Given the description of an element on the screen output the (x, y) to click on. 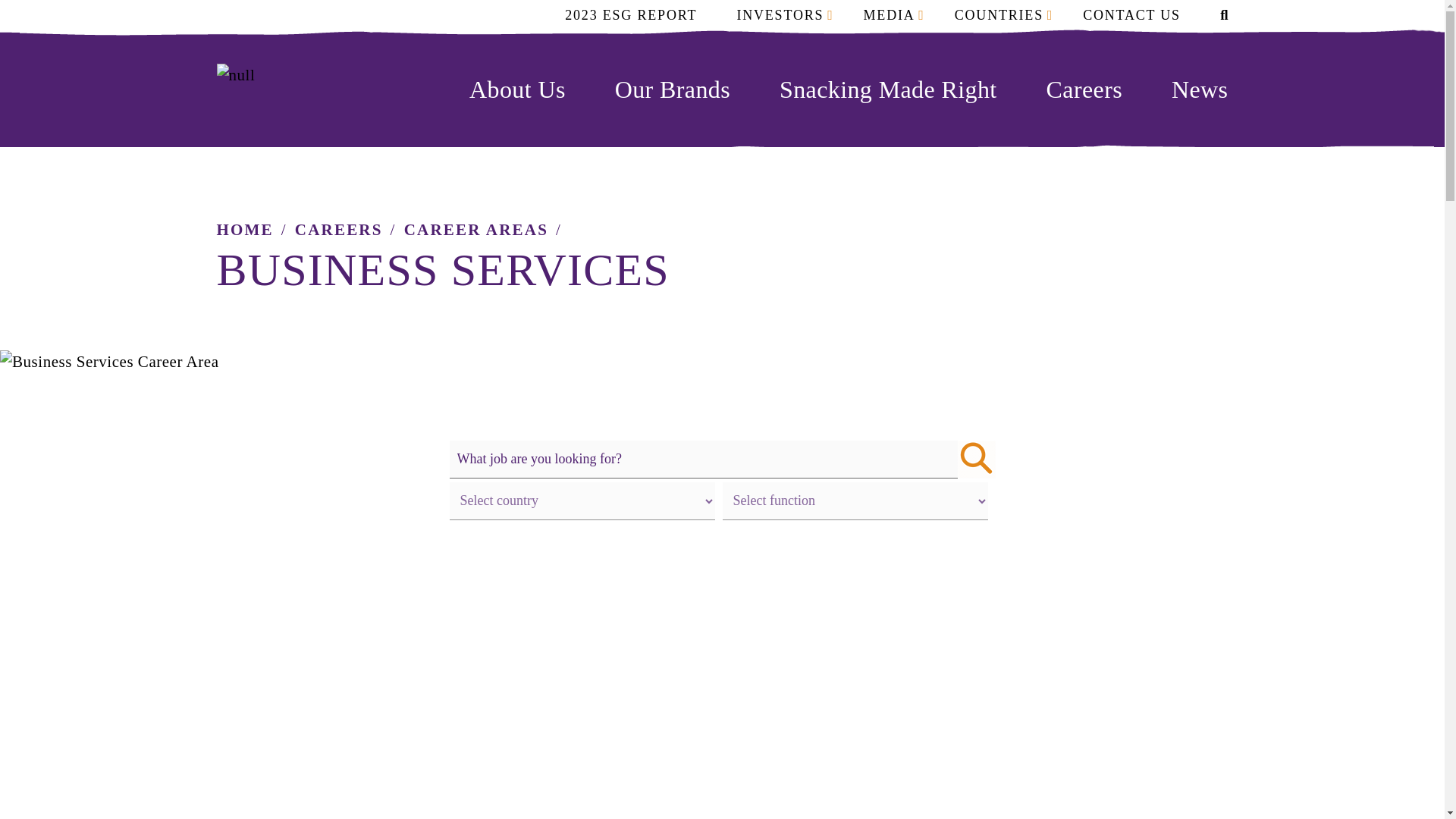
INVESTORS (780, 14)
2023 ESG REPORT (630, 14)
2023 ESG REPORT (630, 14)
MEDIA (889, 14)
